Given the description of an element on the screen output the (x, y) to click on. 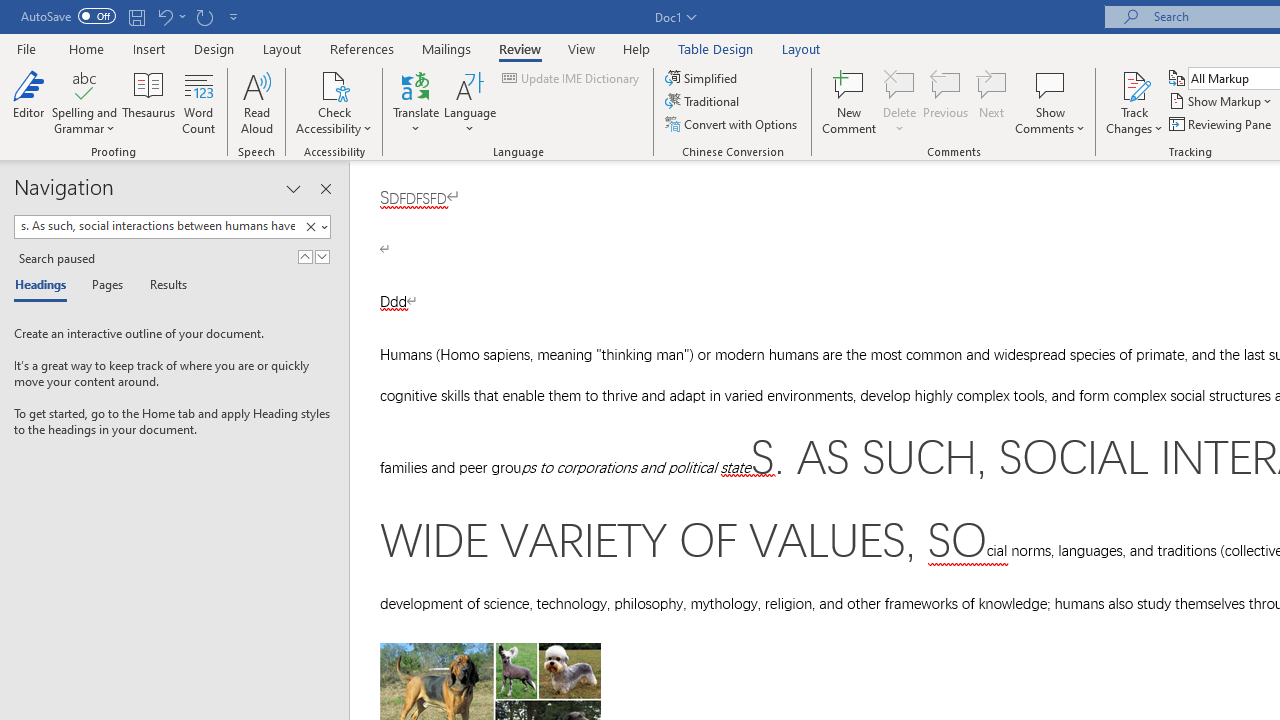
Reviewing Pane (1221, 124)
Convert with Options... (732, 124)
Spelling and Grammar (84, 102)
Show Comments (1050, 84)
Previous Result (304, 256)
Delete (900, 102)
Translate (415, 102)
Language (470, 102)
